Given the description of an element on the screen output the (x, y) to click on. 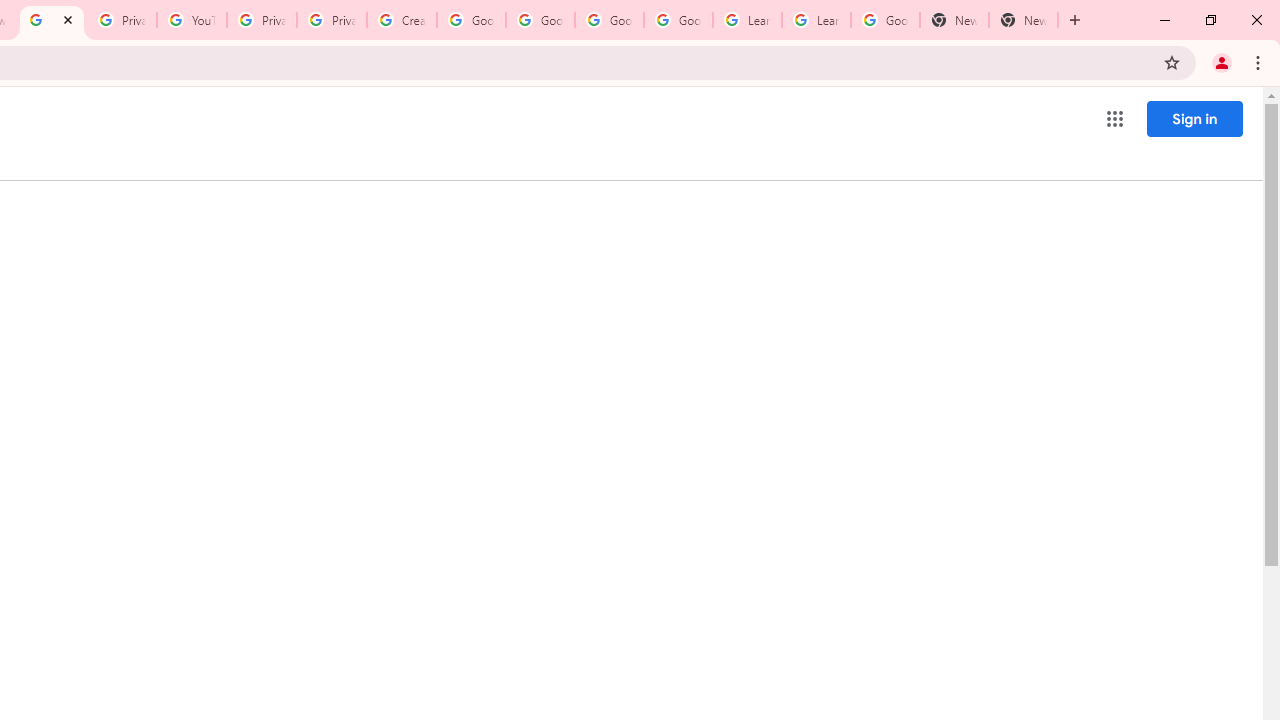
Google Account Help (539, 20)
Google Account Help (677, 20)
New Tab (1023, 20)
Create your Google Account (401, 20)
